Given the description of an element on the screen output the (x, y) to click on. 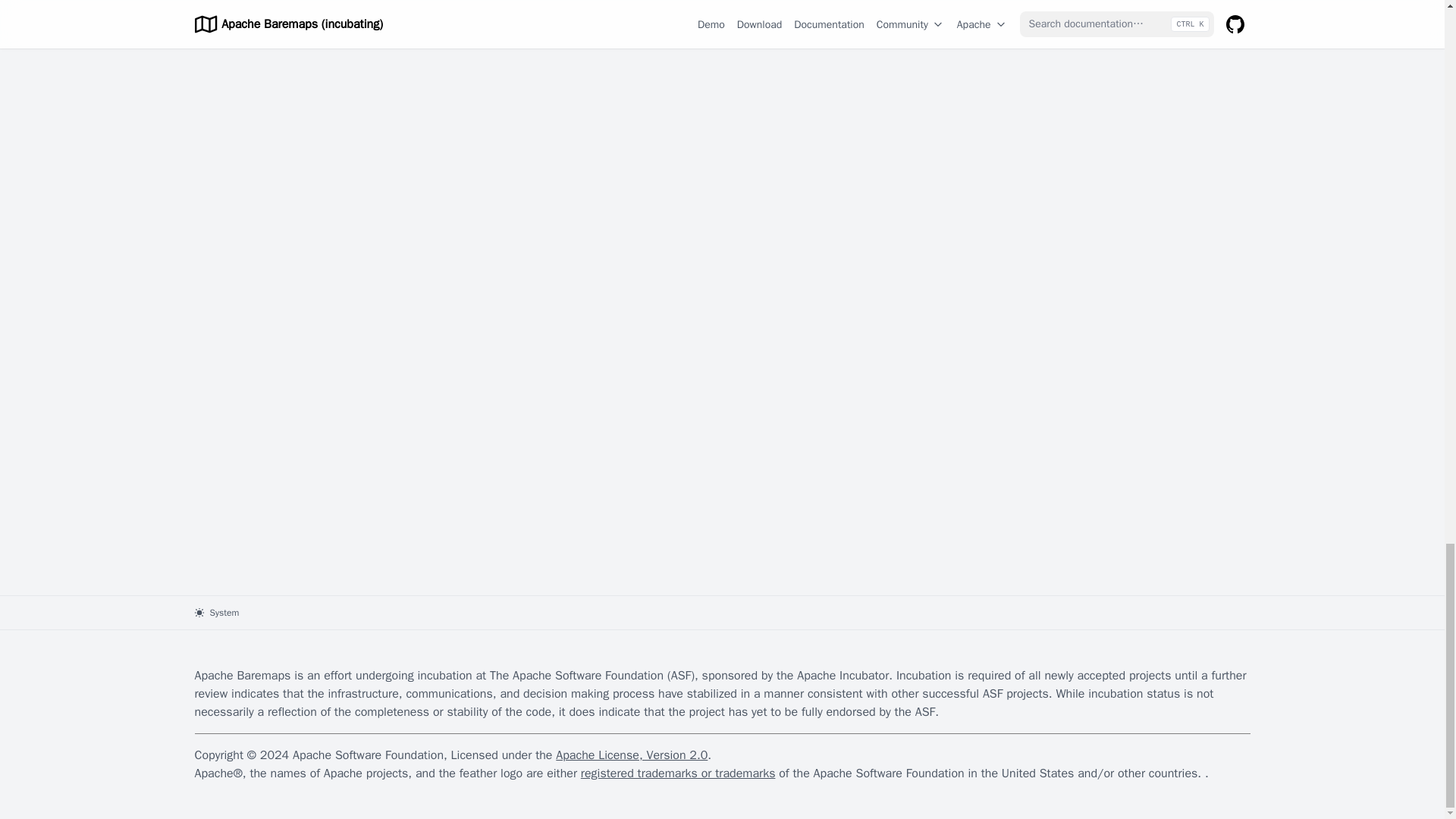
Change theme (215, 612)
